Given the description of an element on the screen output the (x, y) to click on. 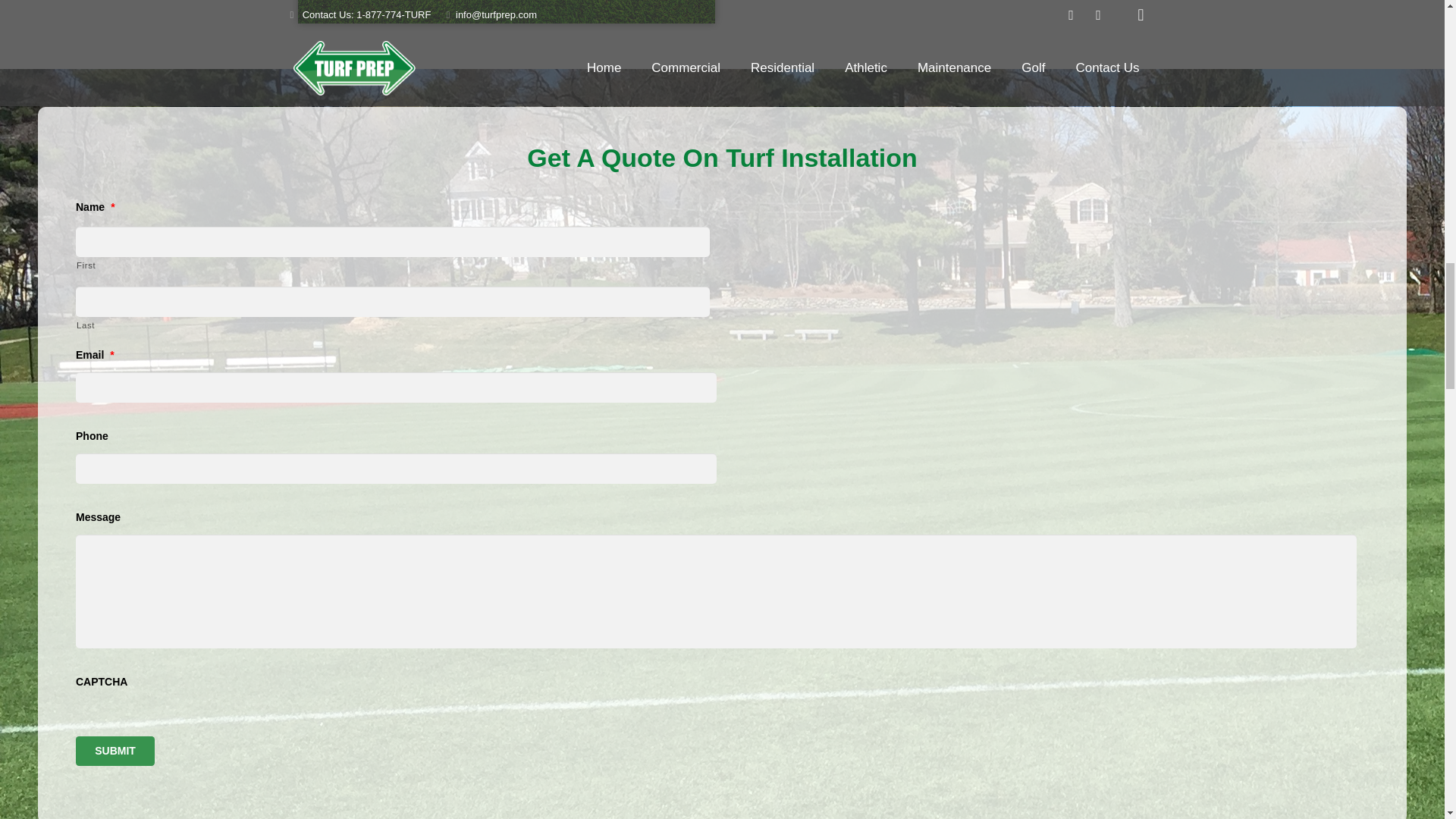
Submit (114, 750)
